Given the description of an element on the screen output the (x, y) to click on. 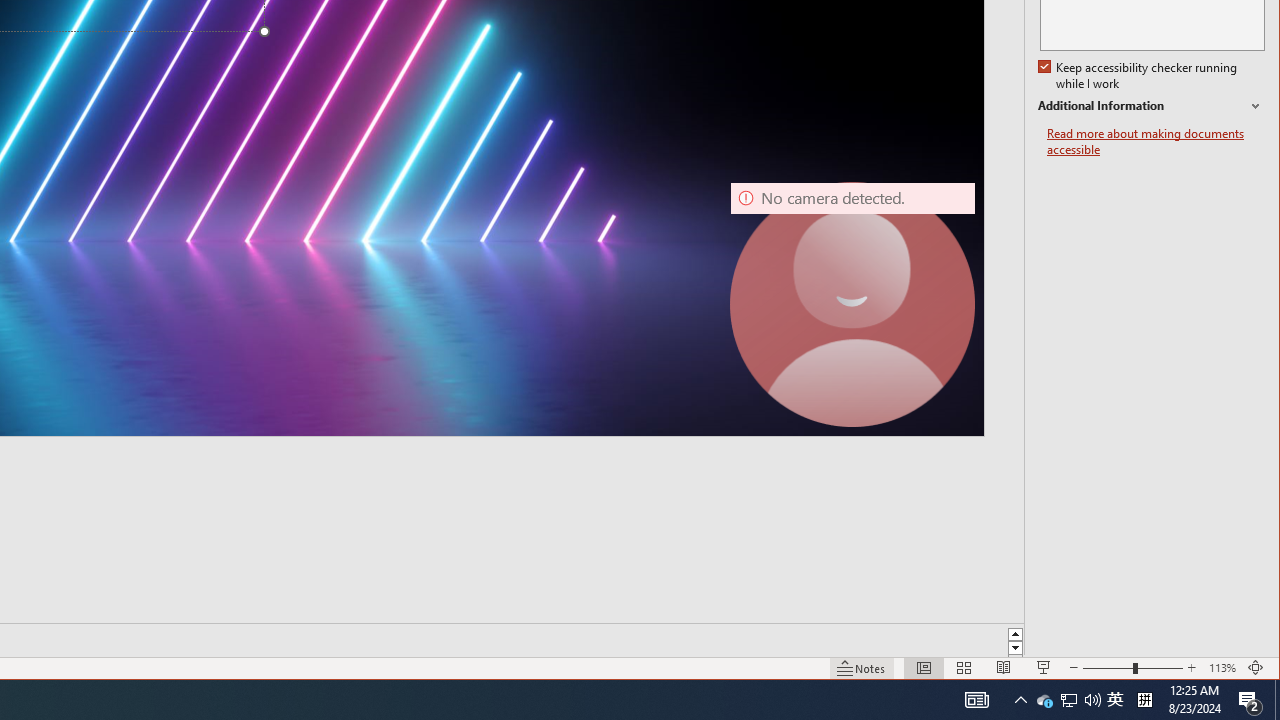
Camera 7, No camera detected. (852, 304)
Zoom 113% (1222, 668)
